Given the description of an element on the screen output the (x, y) to click on. 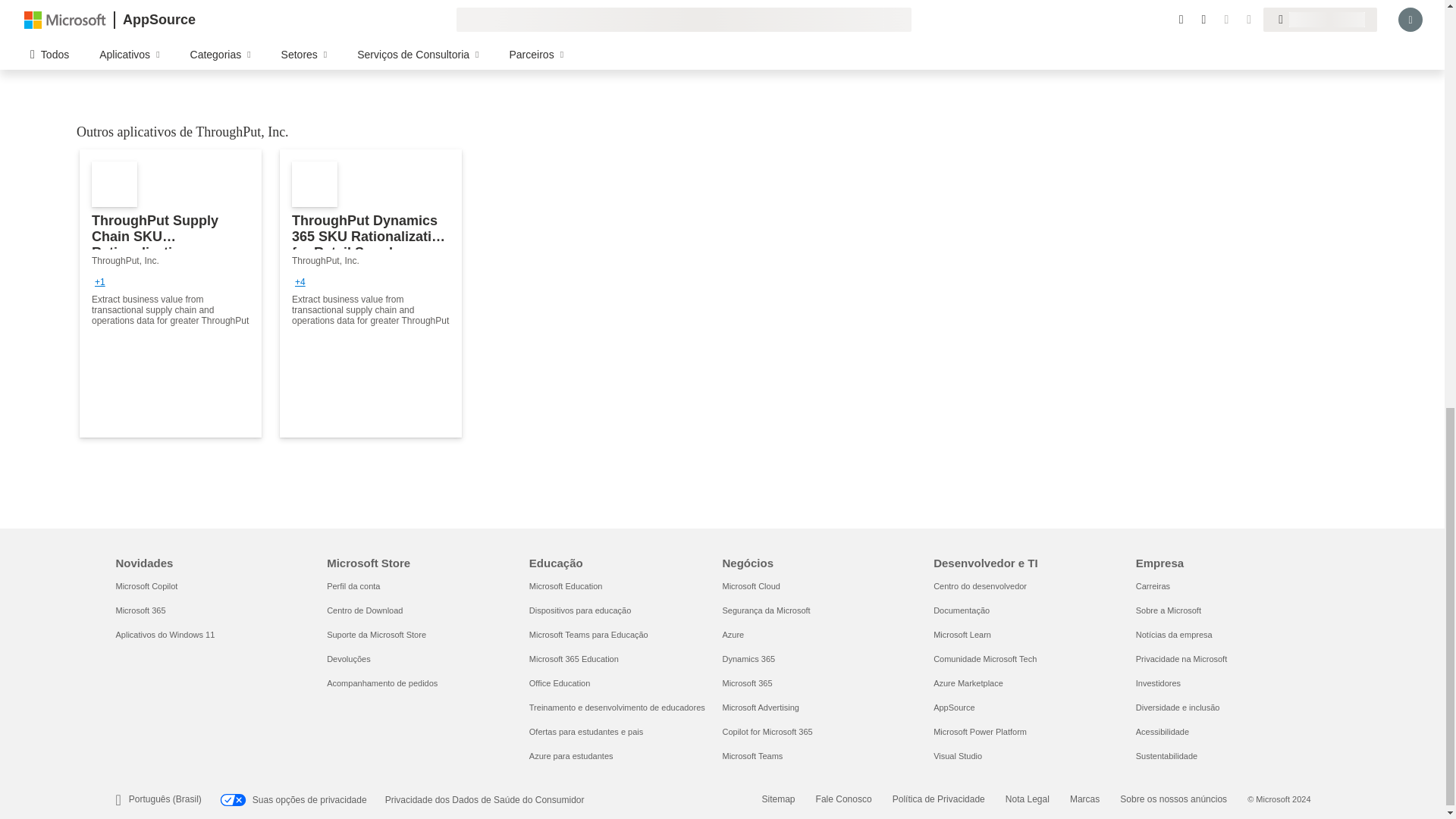
Azure para estudantes (570, 755)
Suporte da Microsoft Store (376, 634)
Microsoft Education (565, 585)
ThroughPut Supply Chain SKU Rationalization (171, 293)
Treinamento e desenvolvimento de educadores (616, 706)
Microsoft 365 (140, 610)
Centro de Download (364, 610)
Ofertas para estudantes e pais (586, 731)
Aplicativos do Windows 11 (164, 634)
Microsoft Copilot (146, 585)
Microsoft 365 Education (573, 658)
Acompanhamento de pedidos (382, 682)
Microsoft Cloud (750, 585)
Perfil da conta (353, 585)
